Given the description of an element on the screen output the (x, y) to click on. 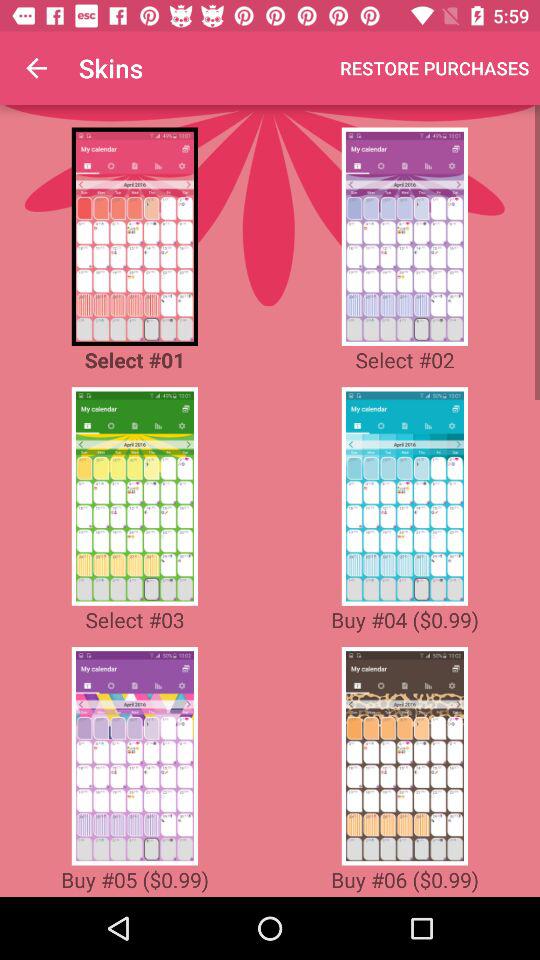
skin select (134, 756)
